Given the description of an element on the screen output the (x, y) to click on. 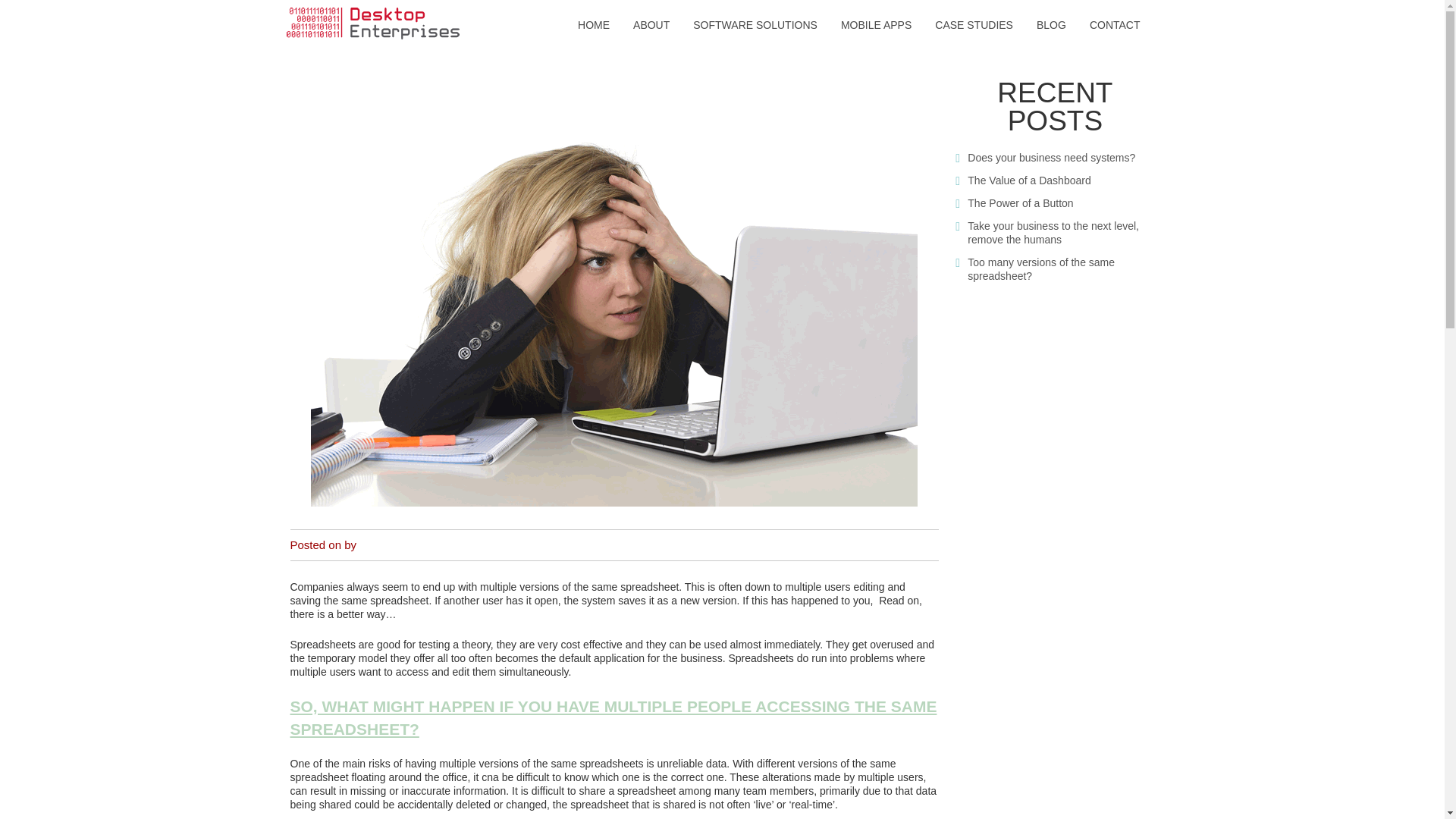
Take your business to the next level, remove the humans (1053, 232)
MOBILE APPS (876, 25)
CASE STUDIES (974, 25)
The Value of a Dashboard (1029, 180)
ABOUT (651, 25)
The Power of a Button (1020, 203)
Does your business need systems? (1051, 157)
SOFTWARE SOLUTIONS (754, 25)
HOME (593, 25)
BLOG (1051, 25)
